Given the description of an element on the screen output the (x, y) to click on. 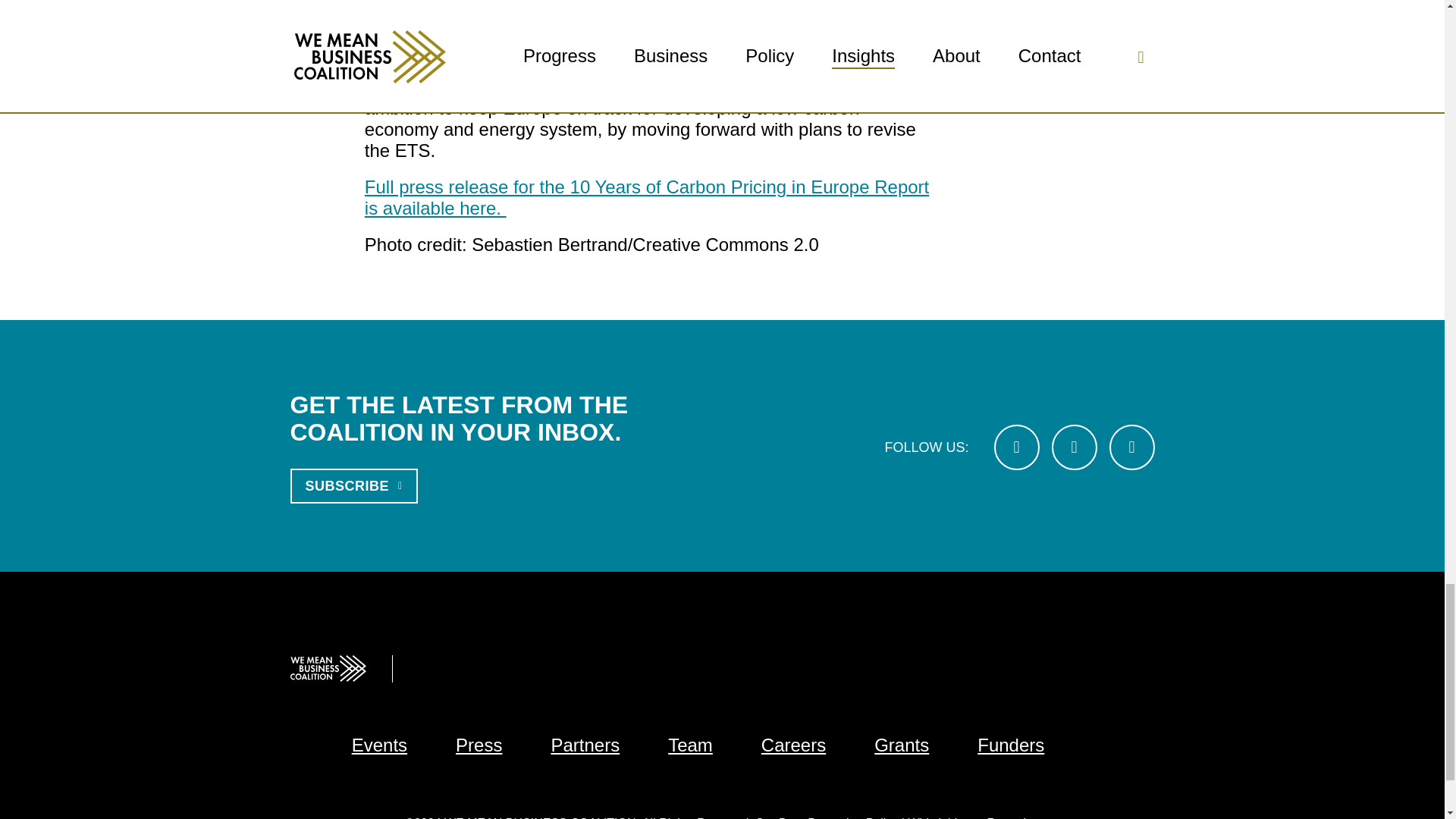
Events (379, 744)
Press (478, 744)
Careers (793, 744)
Partners (585, 744)
Funders (1009, 744)
Press (478, 744)
Team (690, 744)
Partners (585, 744)
Events (379, 744)
SUBSCRIBE (352, 485)
Grants (901, 744)
Team (690, 744)
